Given the description of an element on the screen output the (x, y) to click on. 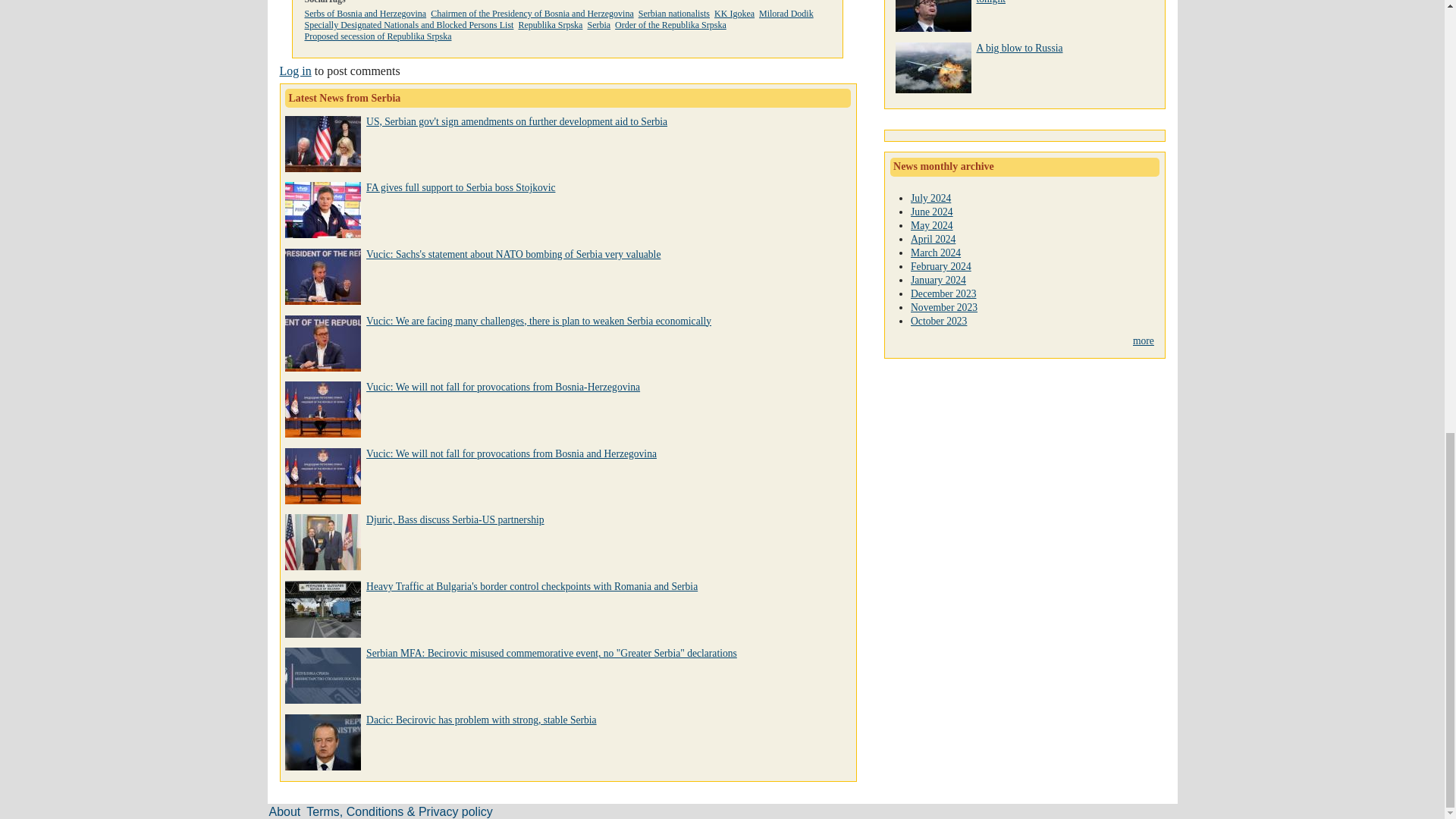
Log in (295, 70)
Specially Designated Nationals and Blocked Persons List (408, 24)
Serbia (598, 24)
FA gives full support to Serbia boss Stojkovic (460, 187)
Order of the Republika Srpska (670, 24)
KK Igokea (734, 13)
Proposed secession of Republika Srpska (377, 36)
Serbs of Bosnia and Herzegovina (365, 13)
Chairmen of the Presidency of Bosnia and Herzegovina (531, 13)
Milorad Dodik (785, 13)
Republika Srpska (550, 24)
Serbian nationalists (674, 13)
